Given the description of an element on the screen output the (x, y) to click on. 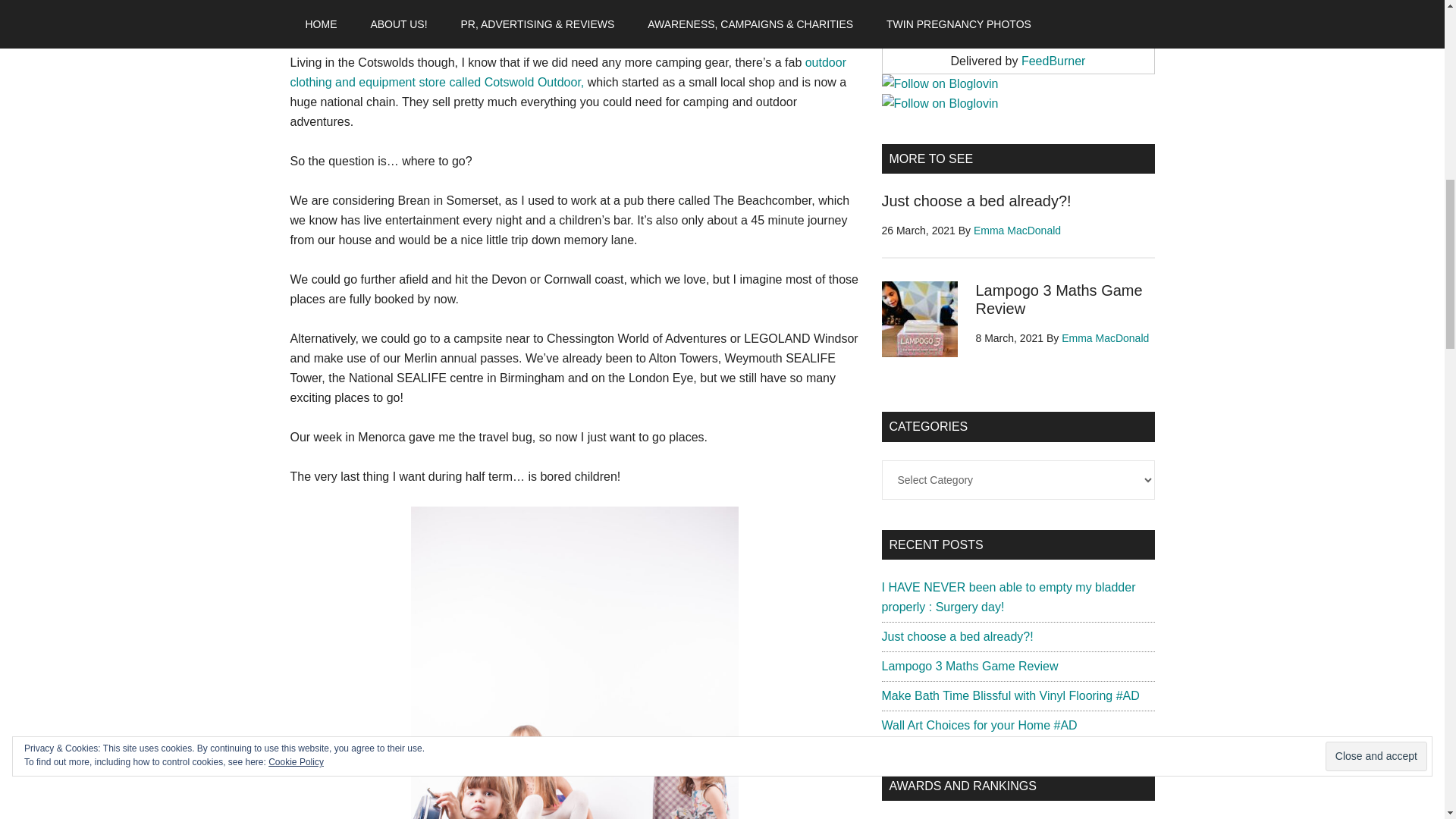
Follow Crazy With Twins on Bloglovin (938, 83)
Subscribe (1018, 16)
Follow Crazy With Twins on Bloglovin (938, 103)
